Given the description of an element on the screen output the (x, y) to click on. 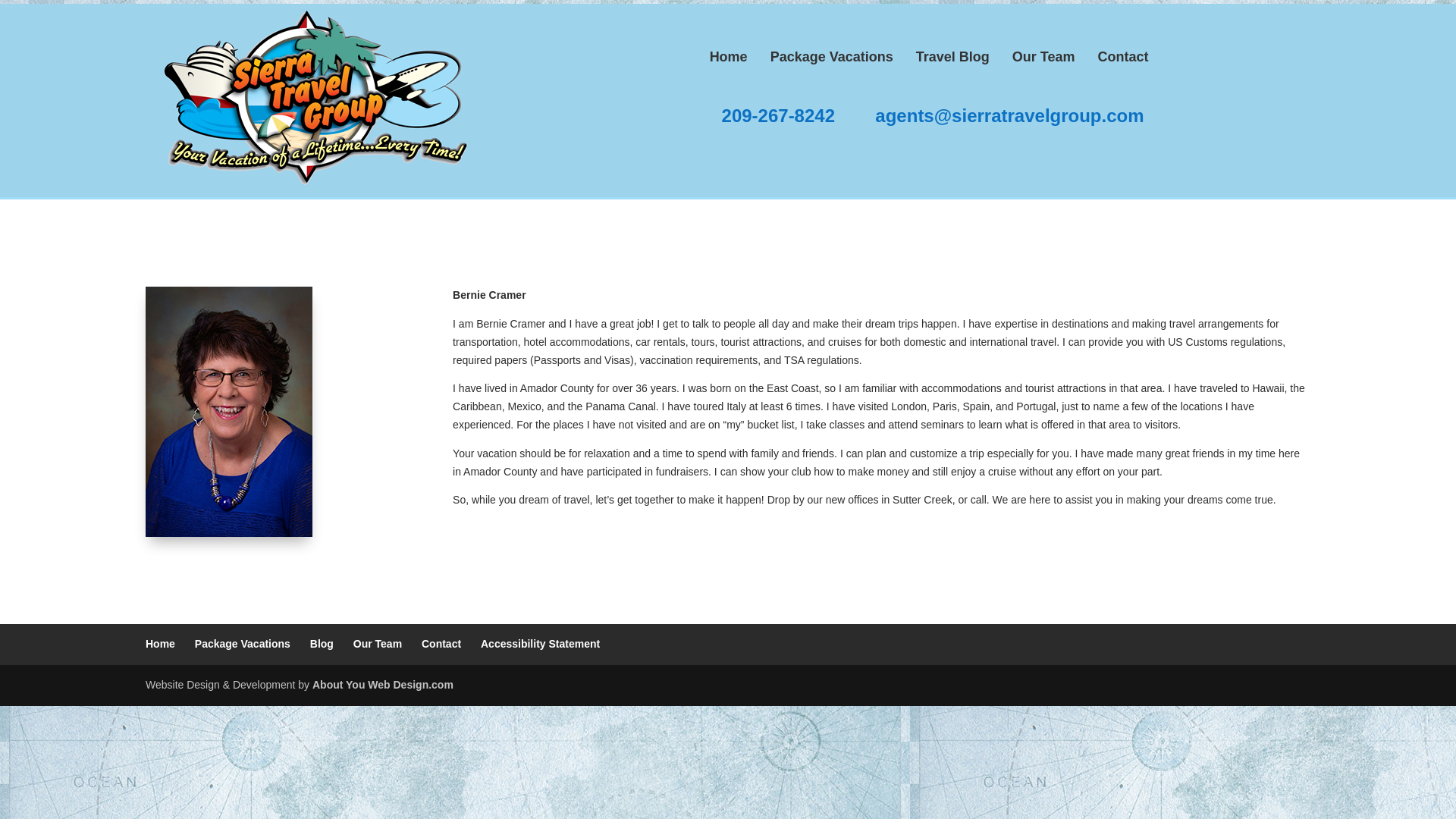
Home (728, 56)
Contact (441, 644)
Home (159, 644)
Accessibility Statement (539, 644)
Blog (321, 644)
Contact (1122, 56)
Sierra-Travel-Logo-blue (309, 98)
Package Vacations (242, 644)
Our Team (377, 644)
Travel Blog (952, 56)
Package Vacations (831, 56)
About You Web Design.com (382, 684)
Our Team (1043, 56)
